Given the description of an element on the screen output the (x, y) to click on. 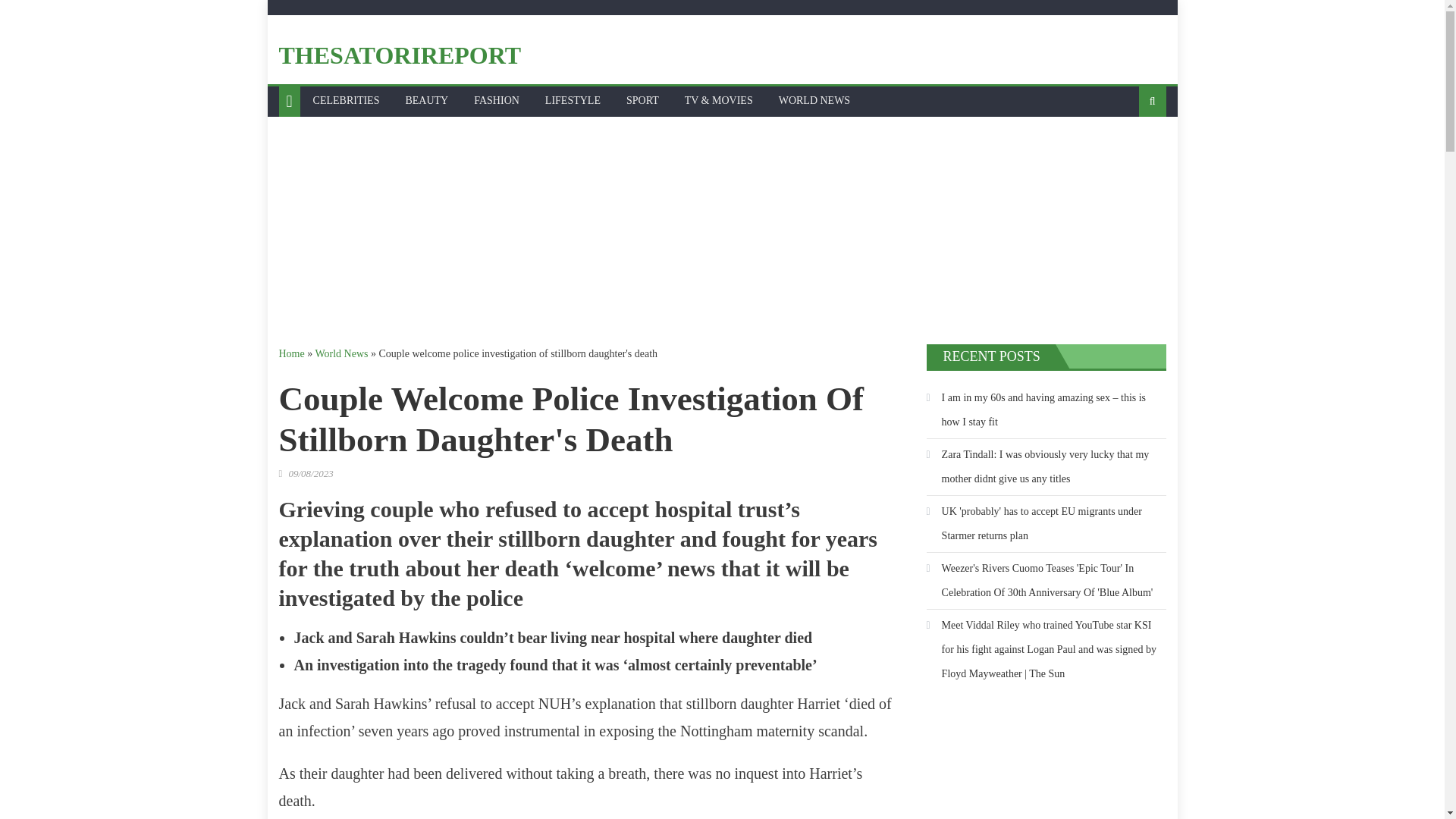
FASHION (497, 100)
WORLD NEWS (814, 100)
SPORT (641, 100)
World News (341, 353)
LIFESTYLE (572, 100)
THESATORIREPORT (400, 54)
Home (291, 353)
